Given the description of an element on the screen output the (x, y) to click on. 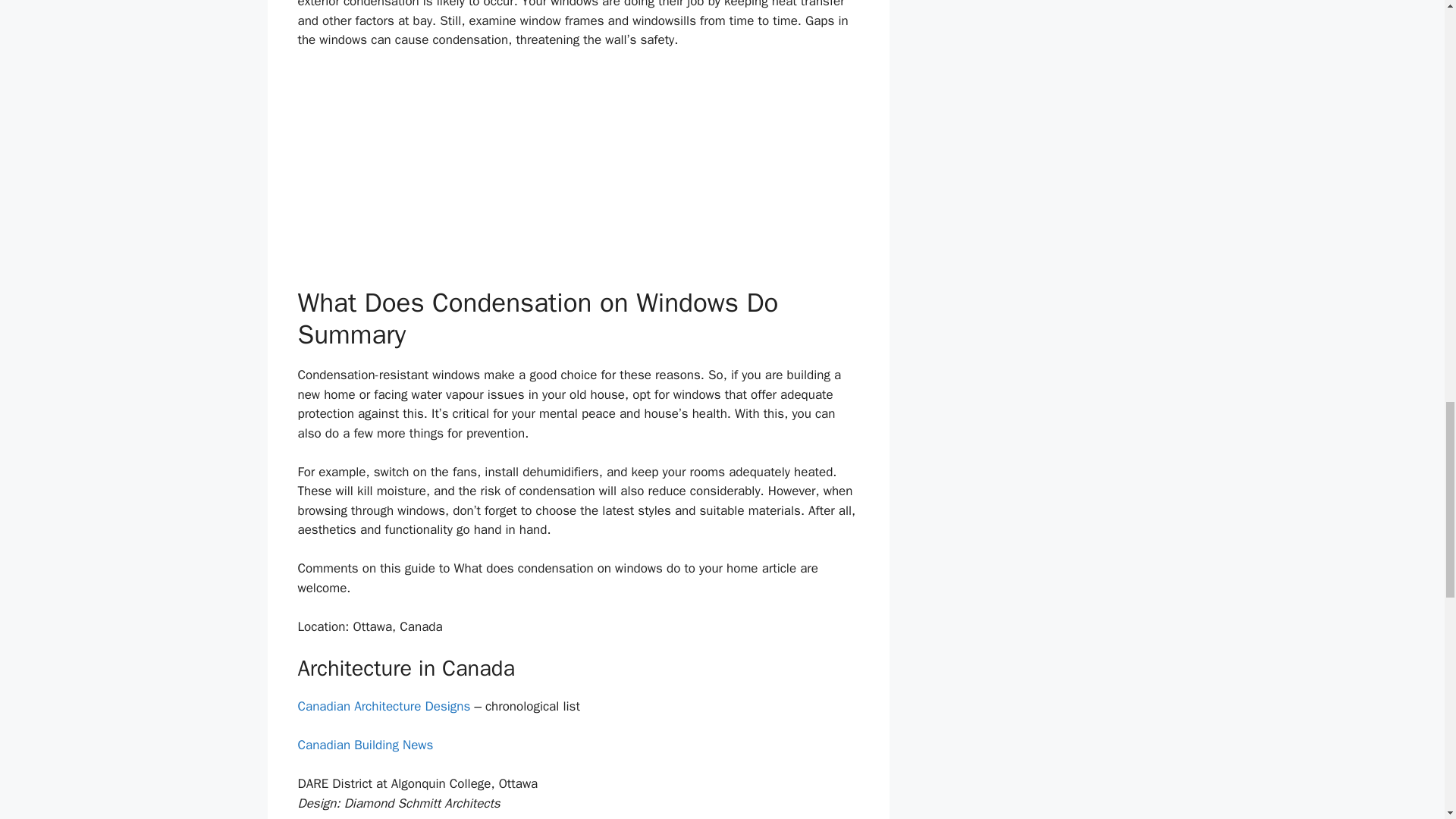
Canadian Architecture Designs (383, 706)
Canadian Building News (364, 744)
